Given the description of an element on the screen output the (x, y) to click on. 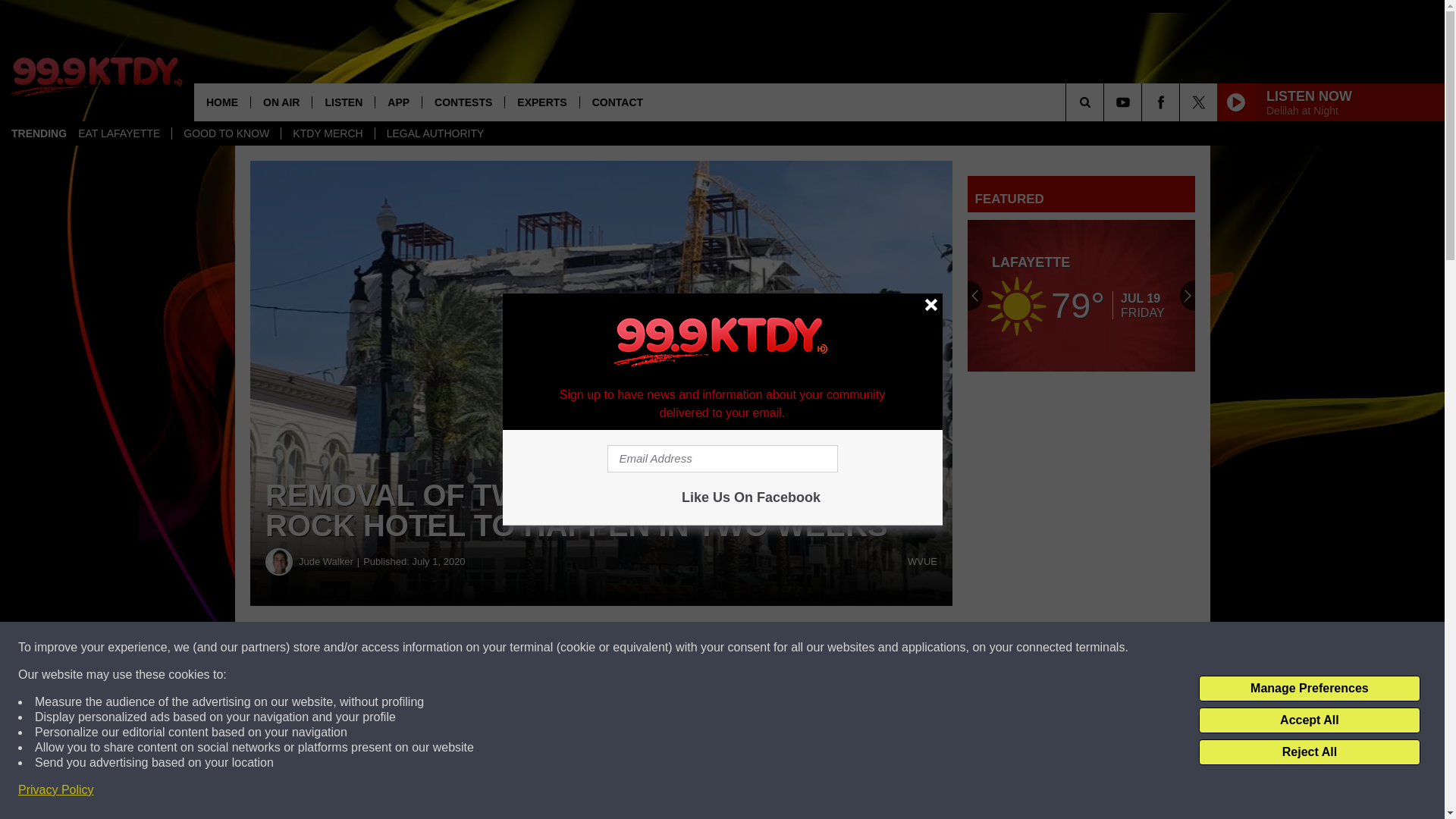
SEARCH (1106, 102)
HOME (221, 102)
KTDY MERCH (327, 133)
EAT LAFAYETTE (118, 133)
SEARCH (1106, 102)
Accept All (1309, 720)
Privacy Policy (55, 789)
LISTEN (342, 102)
Share on Twitter (741, 647)
ON AIR (280, 102)
GOOD TO KNOW (226, 133)
EXPERTS (540, 102)
APP (398, 102)
Email Address (722, 458)
Manage Preferences (1309, 688)
